Given the description of an element on the screen output the (x, y) to click on. 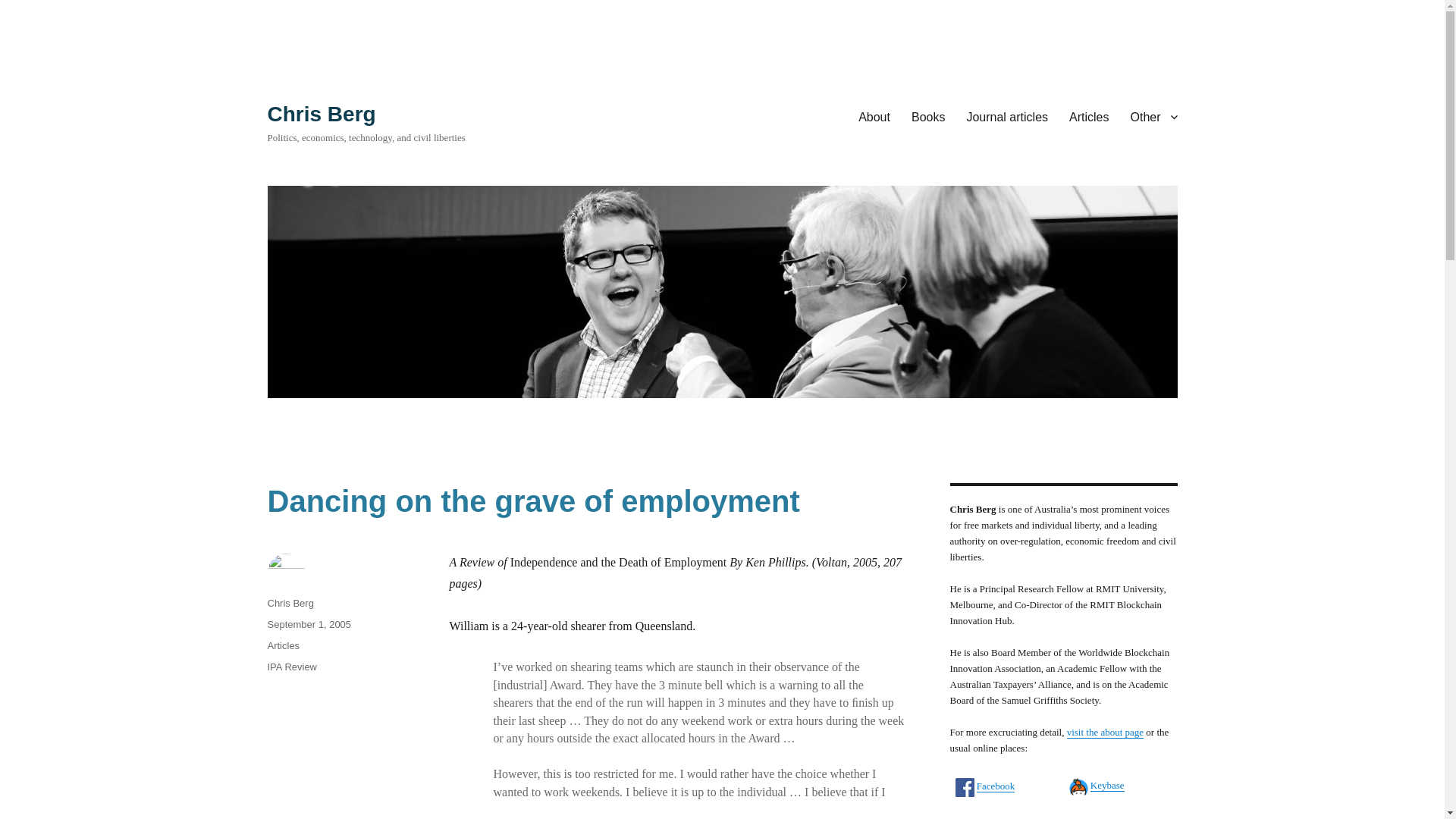
Twitter (990, 816)
Facebook (995, 785)
Journal articles (1006, 116)
visit the about page (1104, 731)
Chris Berg (320, 114)
IPA Review (291, 666)
Books (928, 116)
Articles (1088, 116)
September 1, 2005 (308, 624)
Keybase (1107, 785)
